Given the description of an element on the screen output the (x, y) to click on. 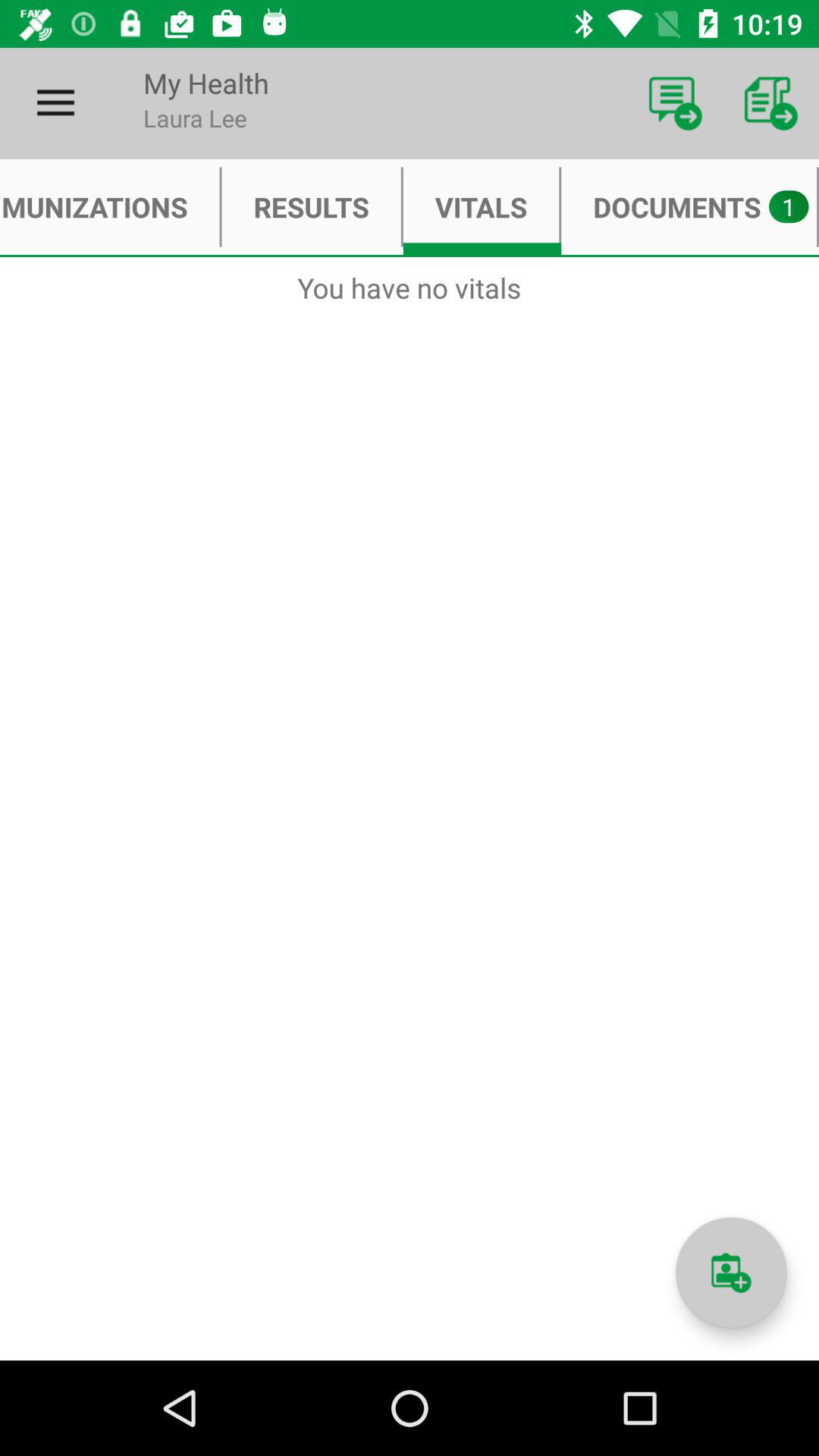
choose icon to the left of the my health item (55, 103)
